Given the description of an element on the screen output the (x, y) to click on. 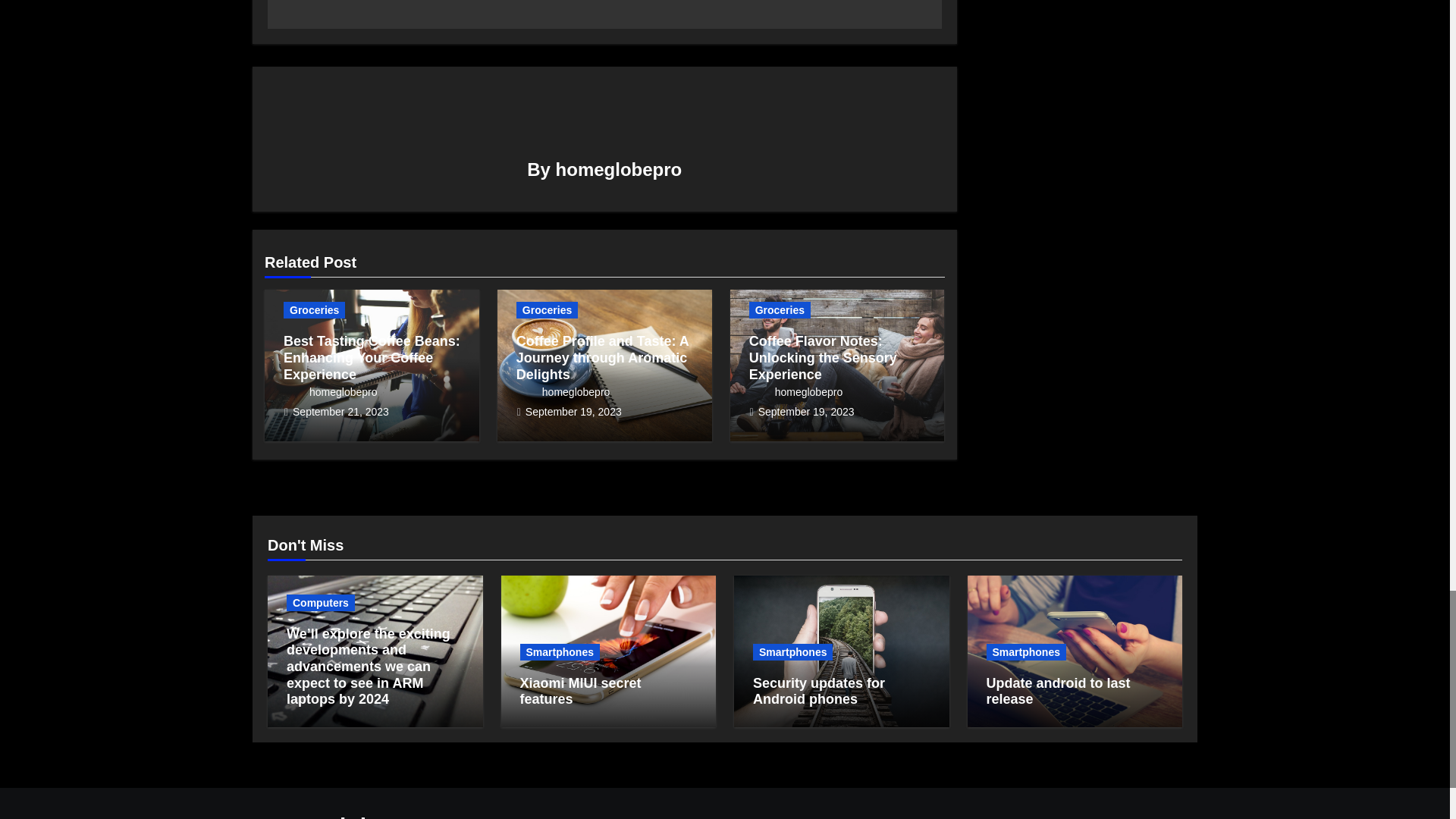
Groceries (314, 310)
homeglobepro (330, 391)
Permalink to: Update android to last release (1057, 691)
Permalink to: Security updates for Android phones (818, 691)
September 21, 2023 (340, 411)
Groceries (547, 310)
Best Tasting Coffee Beans: Enhancing Your Coffee Experience (371, 357)
homeglobepro (619, 168)
